Given the description of an element on the screen output the (x, y) to click on. 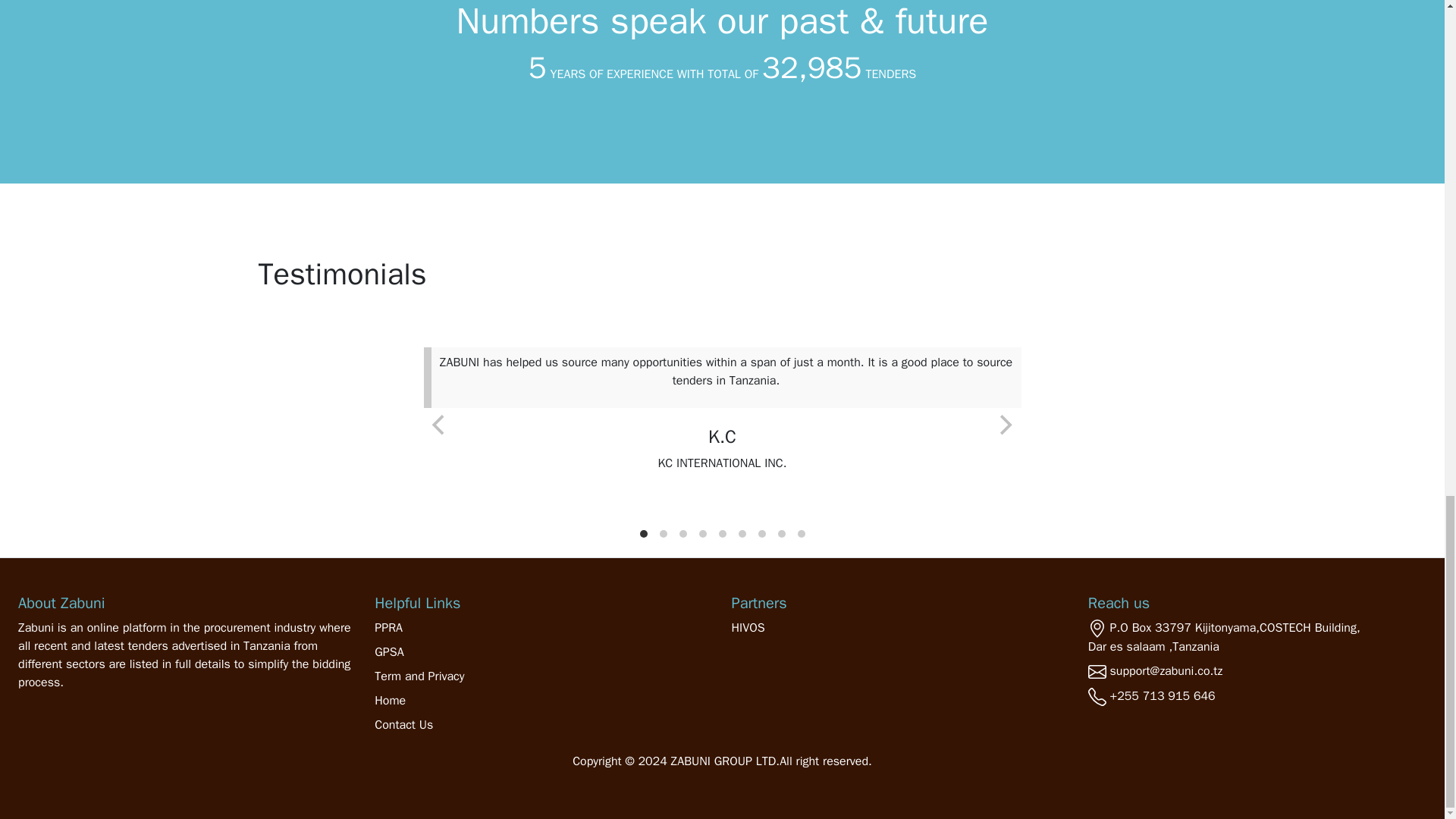
Term and Privacy (543, 676)
Home (543, 700)
GPSA (543, 651)
Contact Us (543, 724)
HIVOS (899, 628)
PPRA (543, 628)
